Given the description of an element on the screen output the (x, y) to click on. 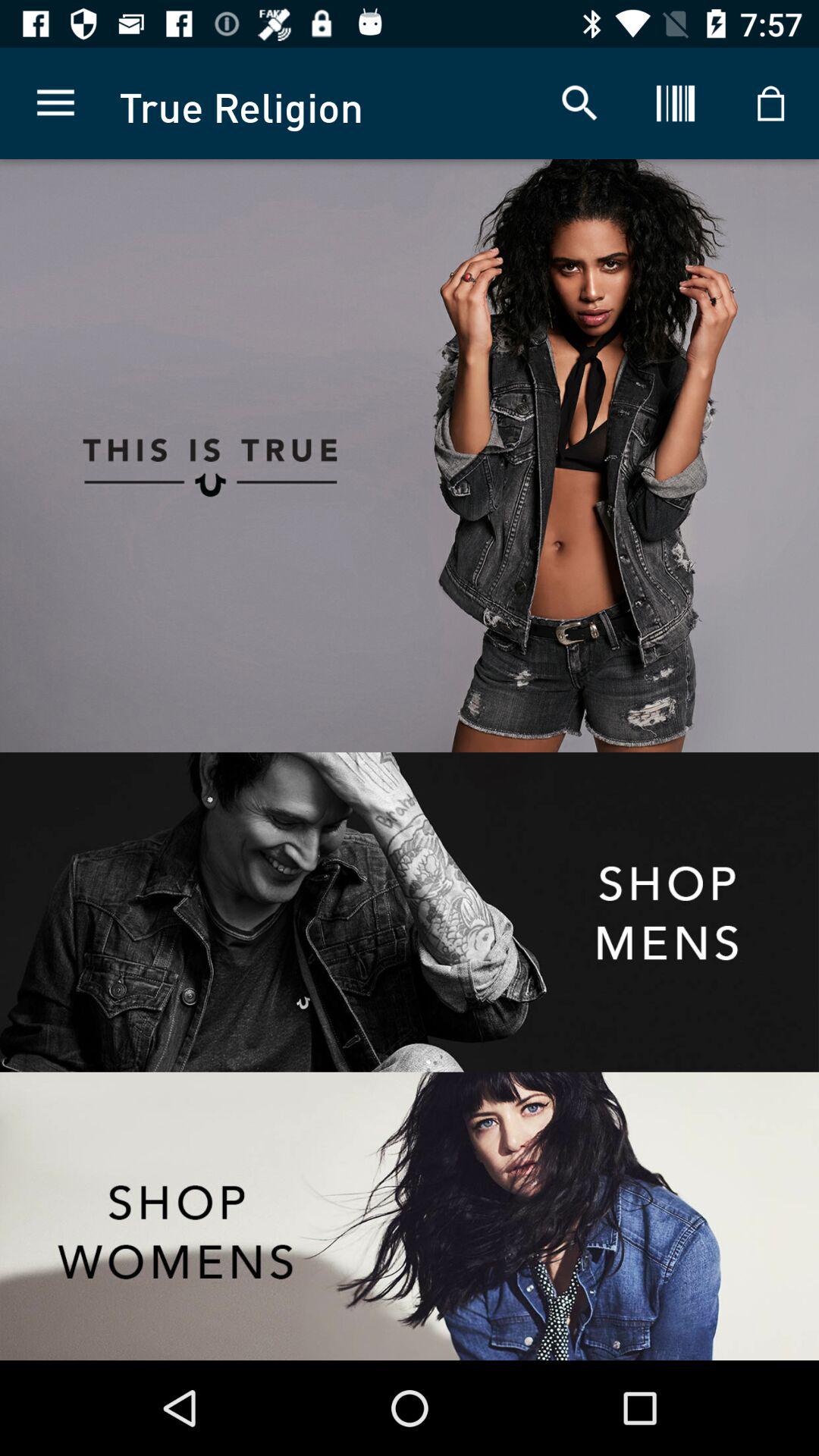
men 's clothes (409, 912)
